Given the description of an element on the screen output the (x, y) to click on. 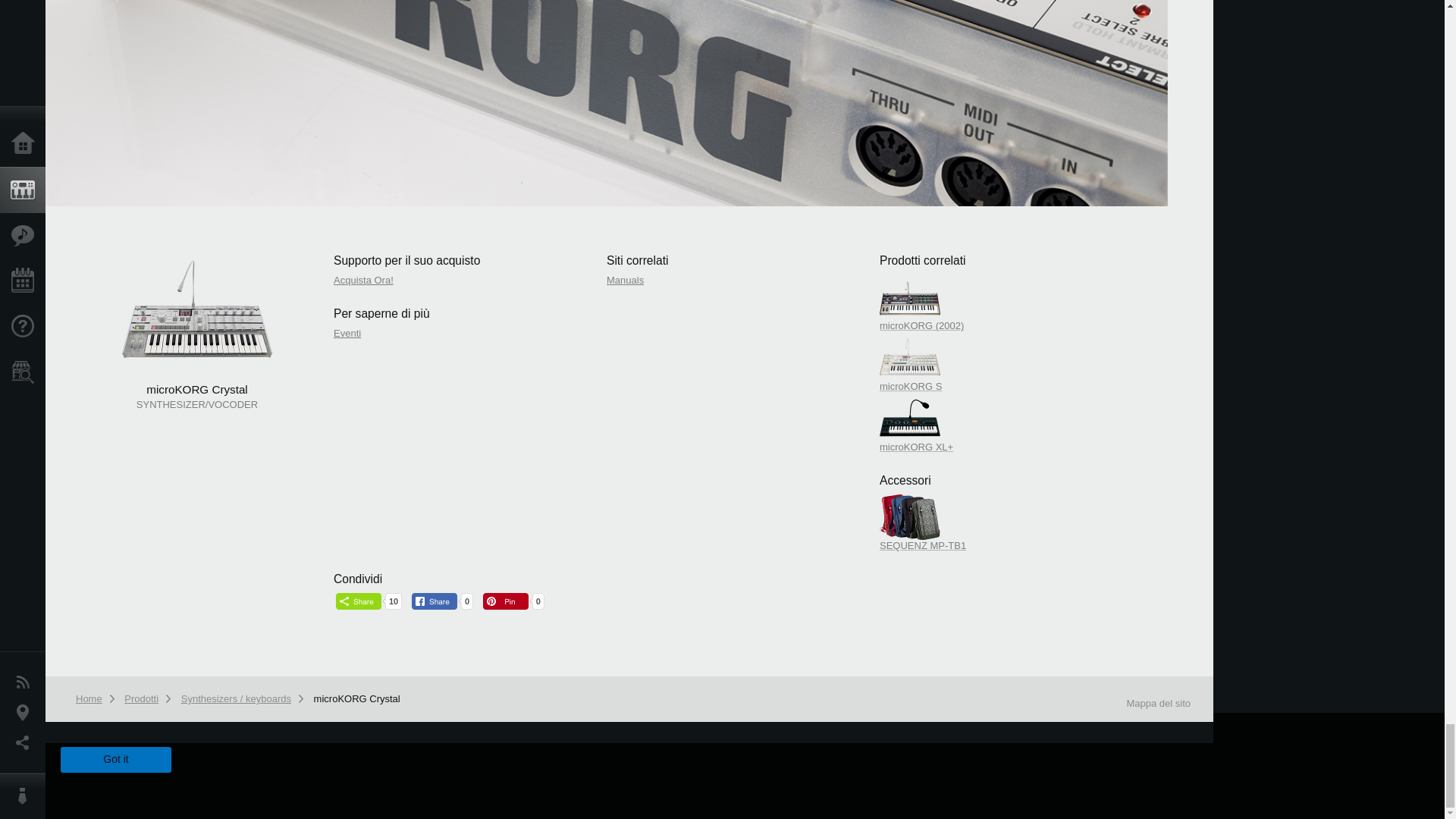
Acquista Ora! (363, 279)
Eventi (347, 333)
Manuals (625, 279)
